Given the description of an element on the screen output the (x, y) to click on. 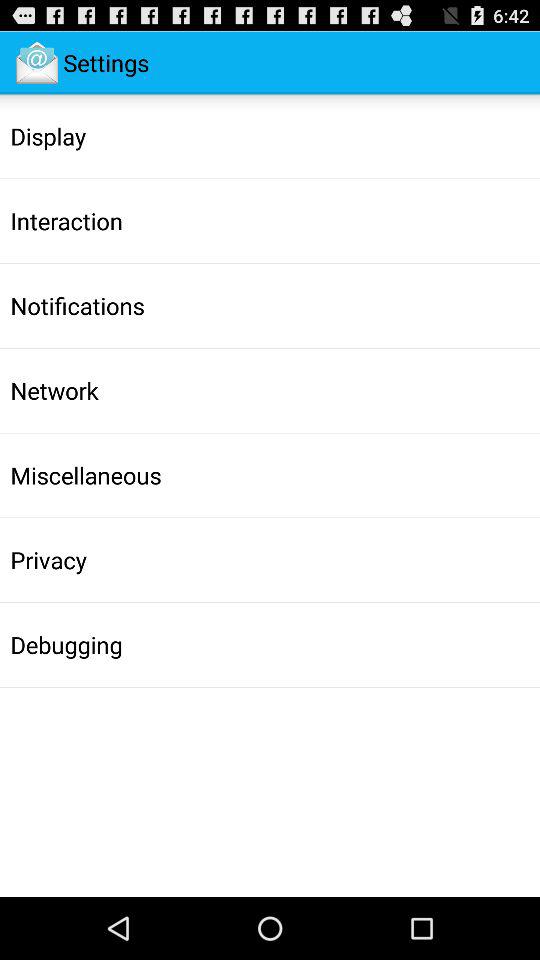
turn on icon below the display app (66, 221)
